Given the description of an element on the screen output the (x, y) to click on. 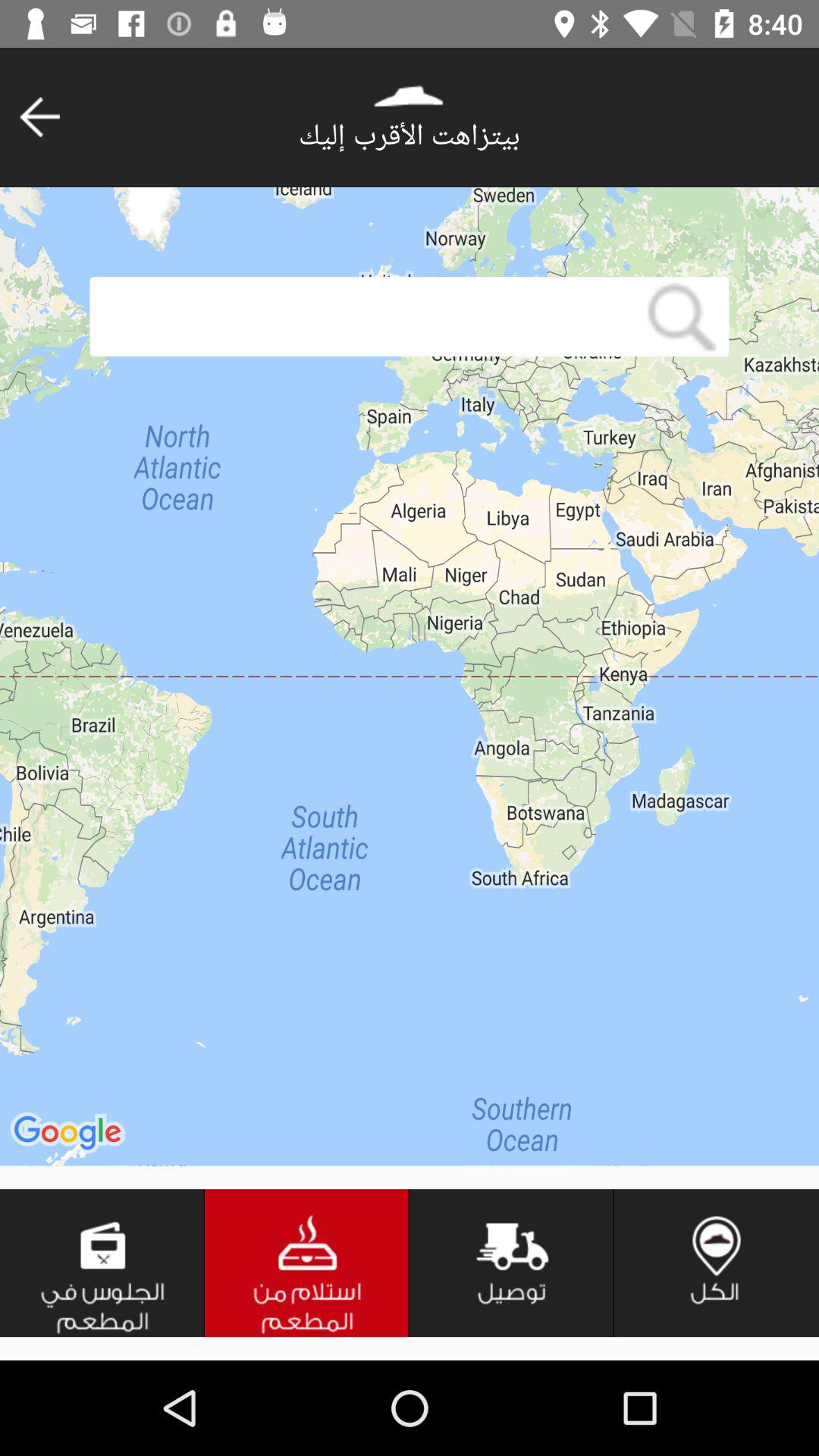
searching box (362, 316)
